Given the description of an element on the screen output the (x, y) to click on. 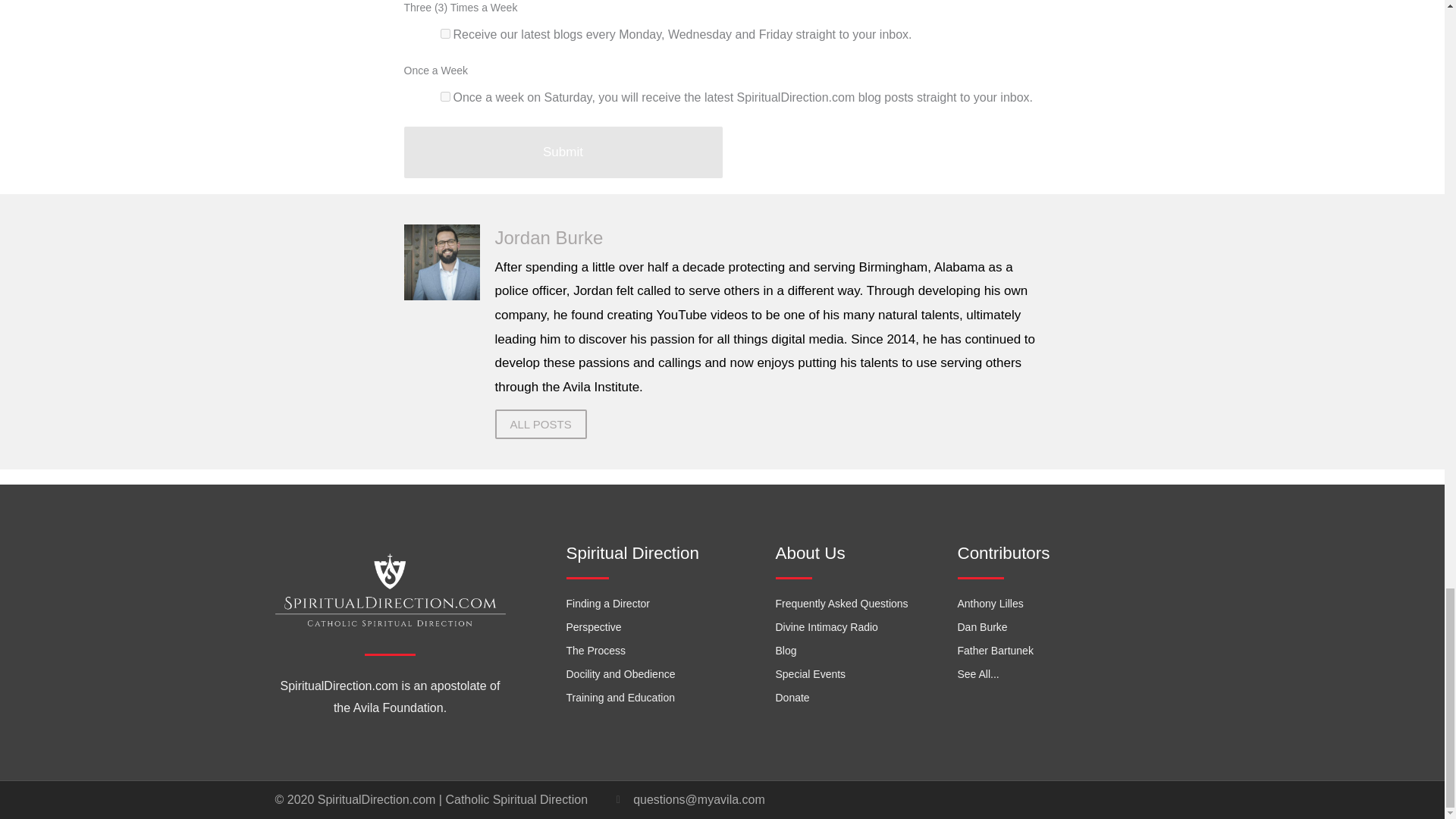
true (444, 96)
true (444, 33)
Submit (562, 152)
